Given the description of an element on the screen output the (x, y) to click on. 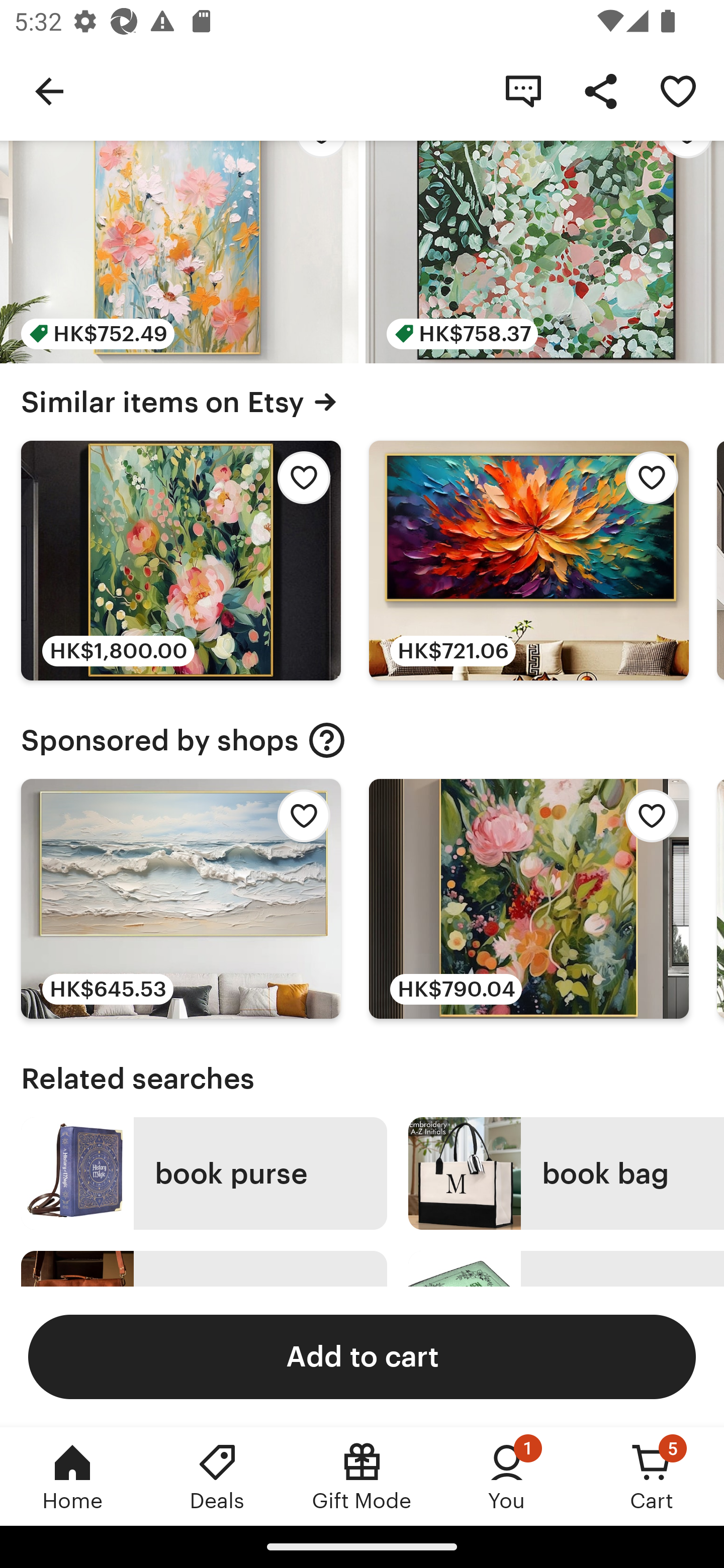
Navigate up (49, 90)
Contact shop (523, 90)
Share (600, 90)
Similar items on Etsy  (362, 401)
Sponsored by shops Sponsored by shops About (362, 739)
book purse (203, 1172)
book bag (566, 1172)
Add to cart (361, 1355)
Deals (216, 1475)
Gift Mode (361, 1475)
You, 1 new notification You (506, 1475)
Cart, 5 new notifications Cart (651, 1475)
